Given the description of an element on the screen output the (x, y) to click on. 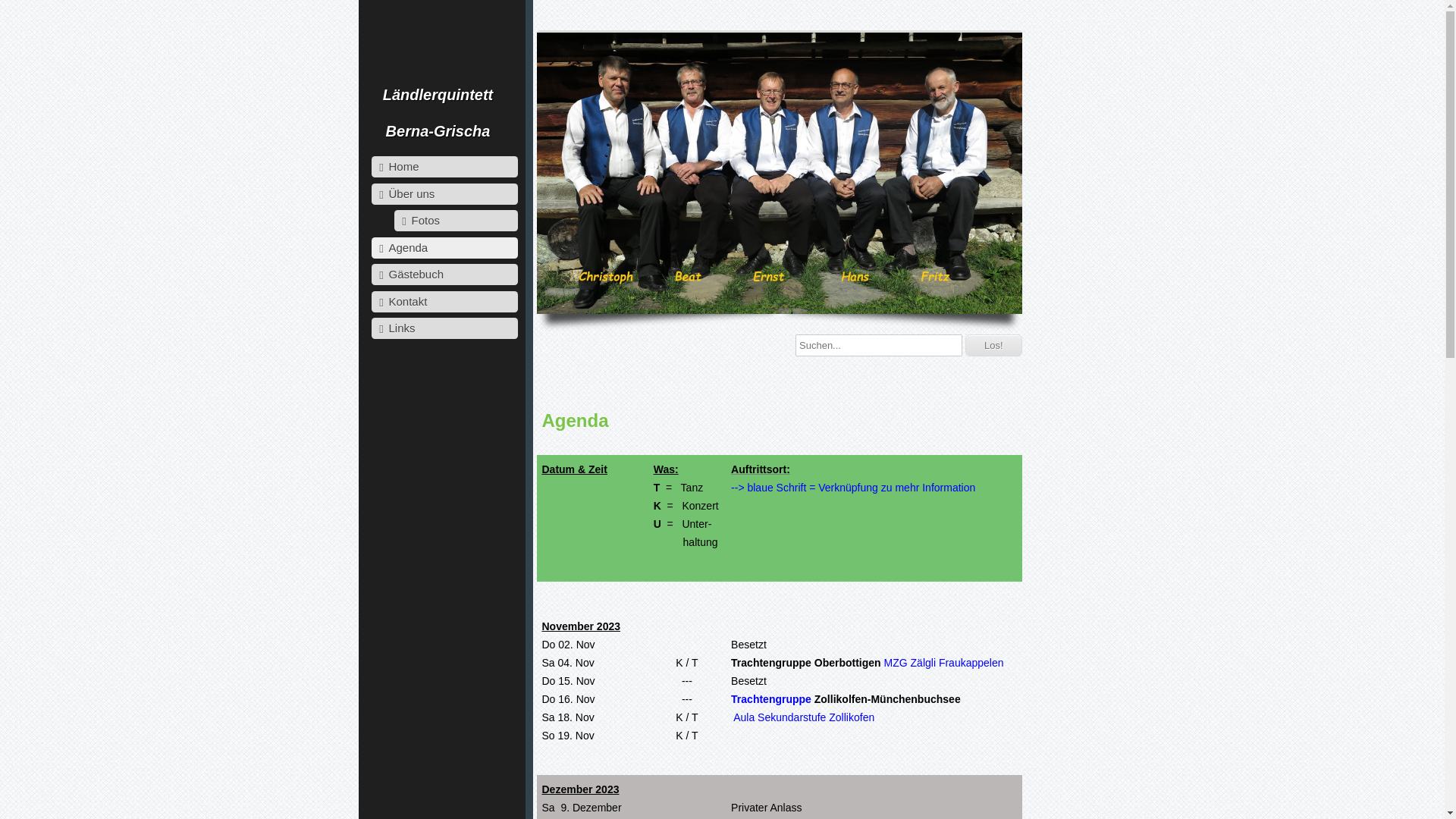
Fotos Element type: text (455, 220)
Kontakt Element type: text (444, 301)
Trachtengruppe Element type: text (772, 699)
Agenda Element type: text (444, 246)
Home Element type: text (444, 166)
Los! Element type: text (993, 345)
Links Element type: text (444, 327)
Aula Sekundarstufe Zollikofen Element type: text (803, 717)
